Given the description of an element on the screen output the (x, y) to click on. 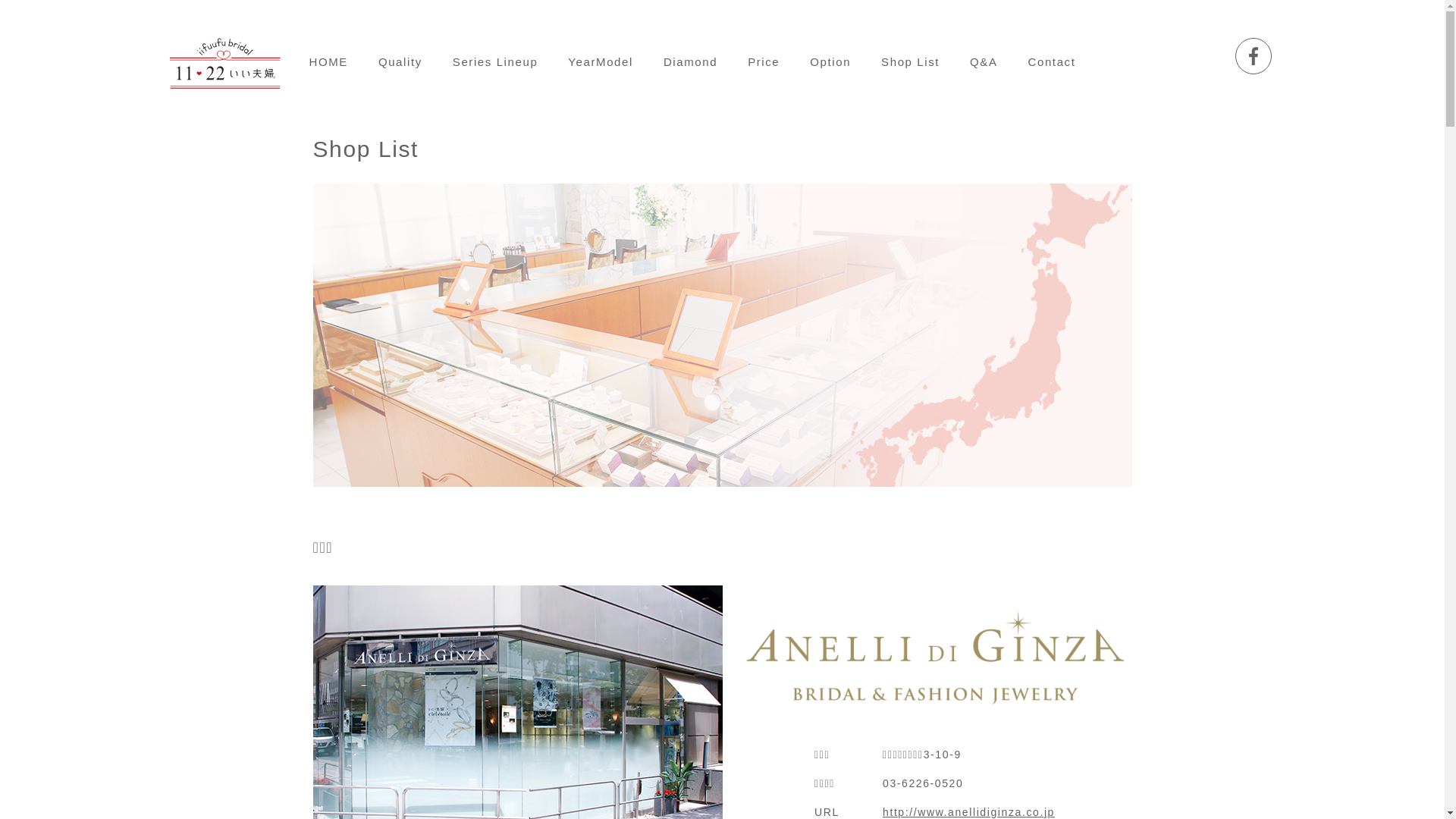
Price Element type: text (763, 61)
Contact Element type: text (1052, 61)
Diamond Element type: text (690, 61)
Q&A Element type: text (983, 61)
http://www.anellidiginza.co.jp Element type: text (968, 811)
Shop List Element type: text (910, 61)
Facebook Element type: text (1253, 55)
Option Element type: text (829, 61)
YearModel Element type: text (600, 61)
Quality Element type: text (400, 61)
HOME Element type: text (328, 61)
Series Lineup Element type: text (495, 61)
